Given the description of an element on the screen output the (x, y) to click on. 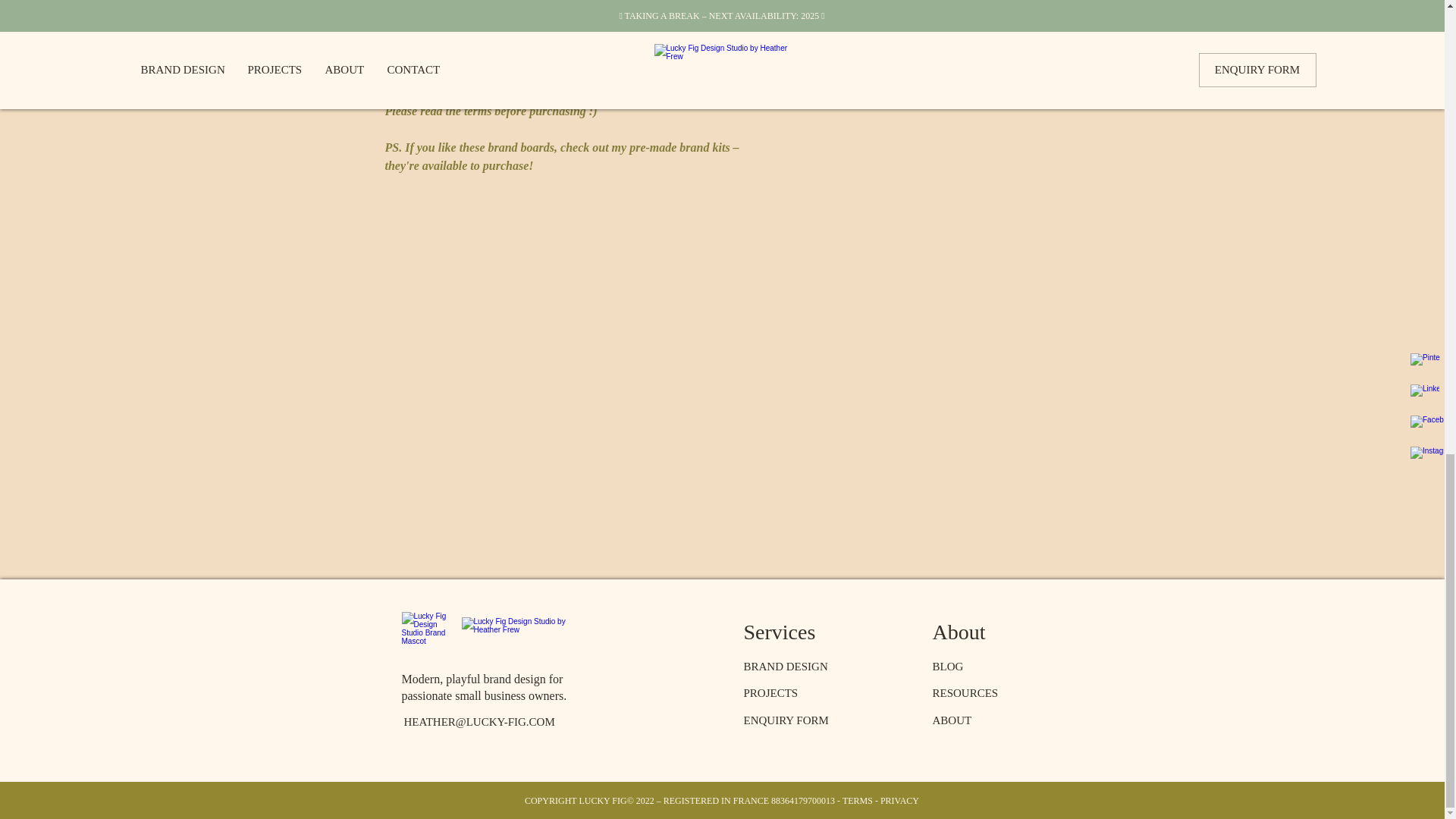
TERMS (857, 800)
ENQUIRY FORM (785, 720)
BRAND DESIGN (784, 666)
PRIVACY (899, 800)
ABOUT (952, 720)
TERMS (924, 4)
PROJECTS (769, 693)
